Given the description of an element on the screen output the (x, y) to click on. 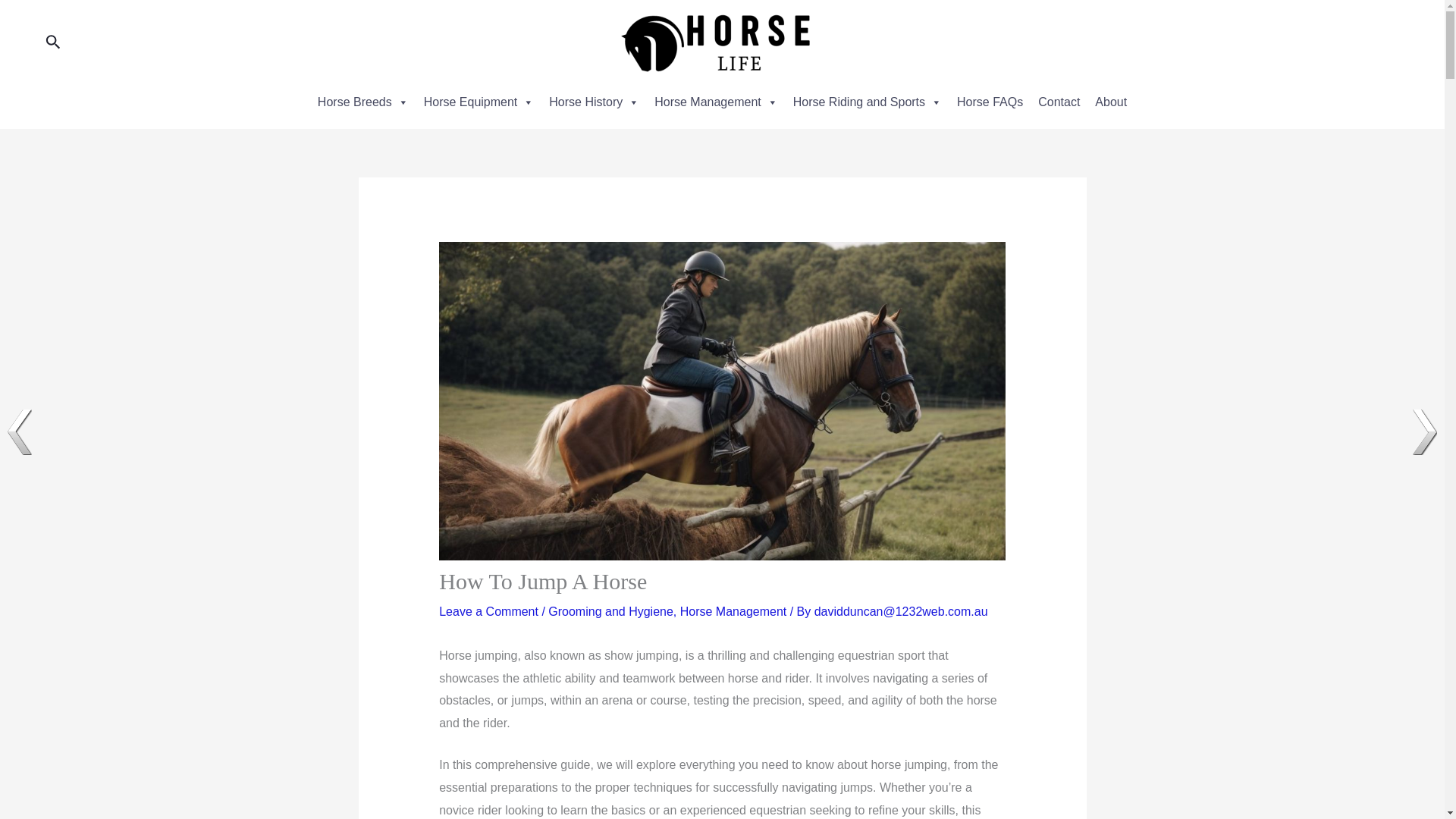
Horse Equipment (478, 101)
Grooming and Hygiene (610, 611)
Horse Riding and Sports (867, 101)
Horse Breeds (363, 101)
About (1110, 101)
Contact (1058, 101)
Horse History (593, 101)
Horse FAQs (989, 101)
Leave a Comment (488, 611)
Horse Management (733, 611)
Horse Management (716, 101)
